Given the description of an element on the screen output the (x, y) to click on. 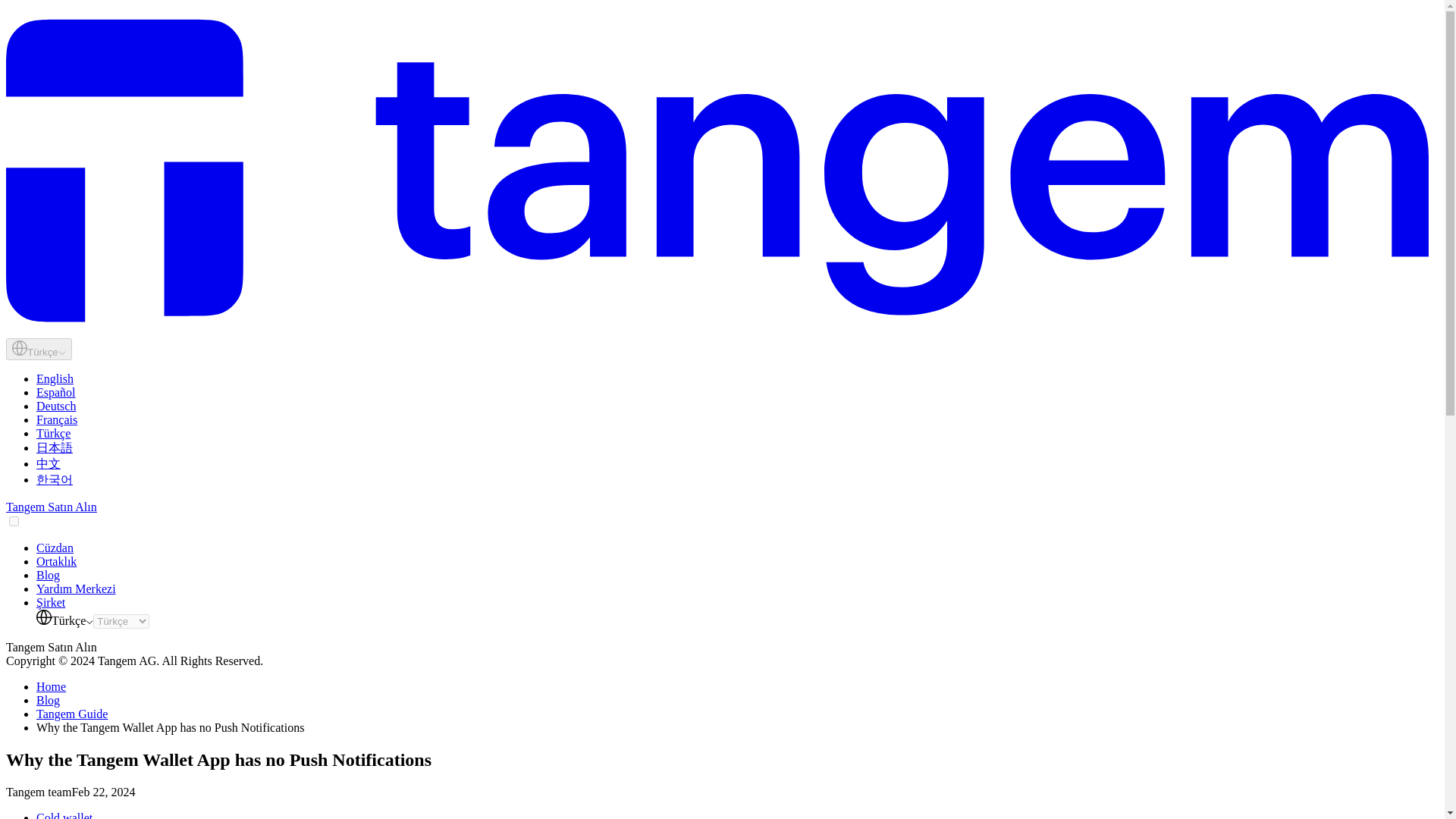
on (13, 521)
Cold wallet (64, 815)
Home (50, 686)
Why the Tangem Wallet App has no Push Notifications (170, 727)
English (55, 378)
Blog (47, 699)
Blog (47, 574)
Deutsch (55, 405)
Tangem Guide (71, 713)
